Given the description of an element on the screen output the (x, y) to click on. 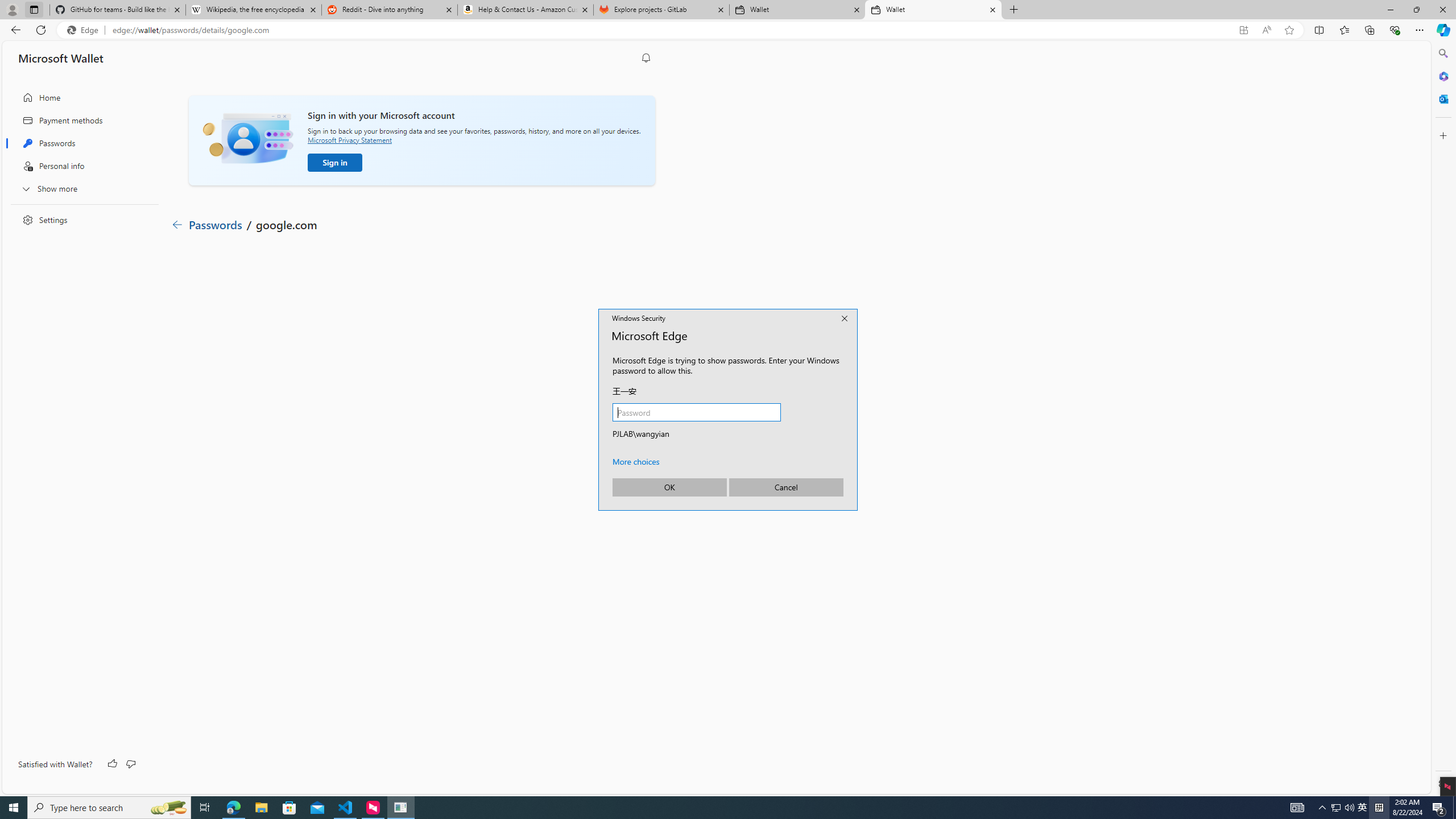
Microsoft Privacy Statement (349, 139)
User Promoted Notification Area (1342, 807)
Search highlights icon opens search home window (167, 807)
Payment methods (81, 120)
Personal info (81, 165)
